Given the description of an element on the screen output the (x, y) to click on. 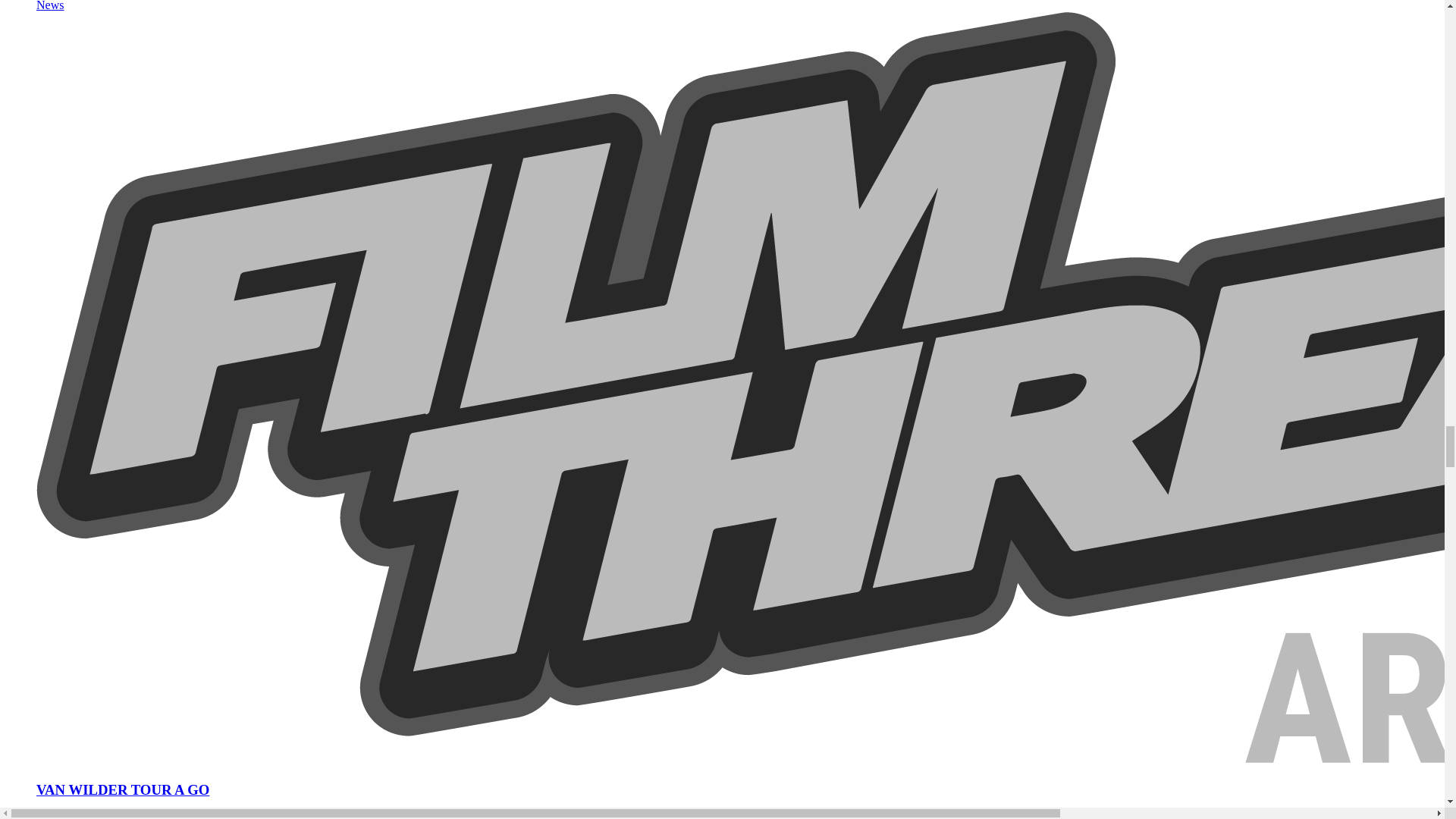
News (50, 5)
